Given the description of an element on the screen output the (x, y) to click on. 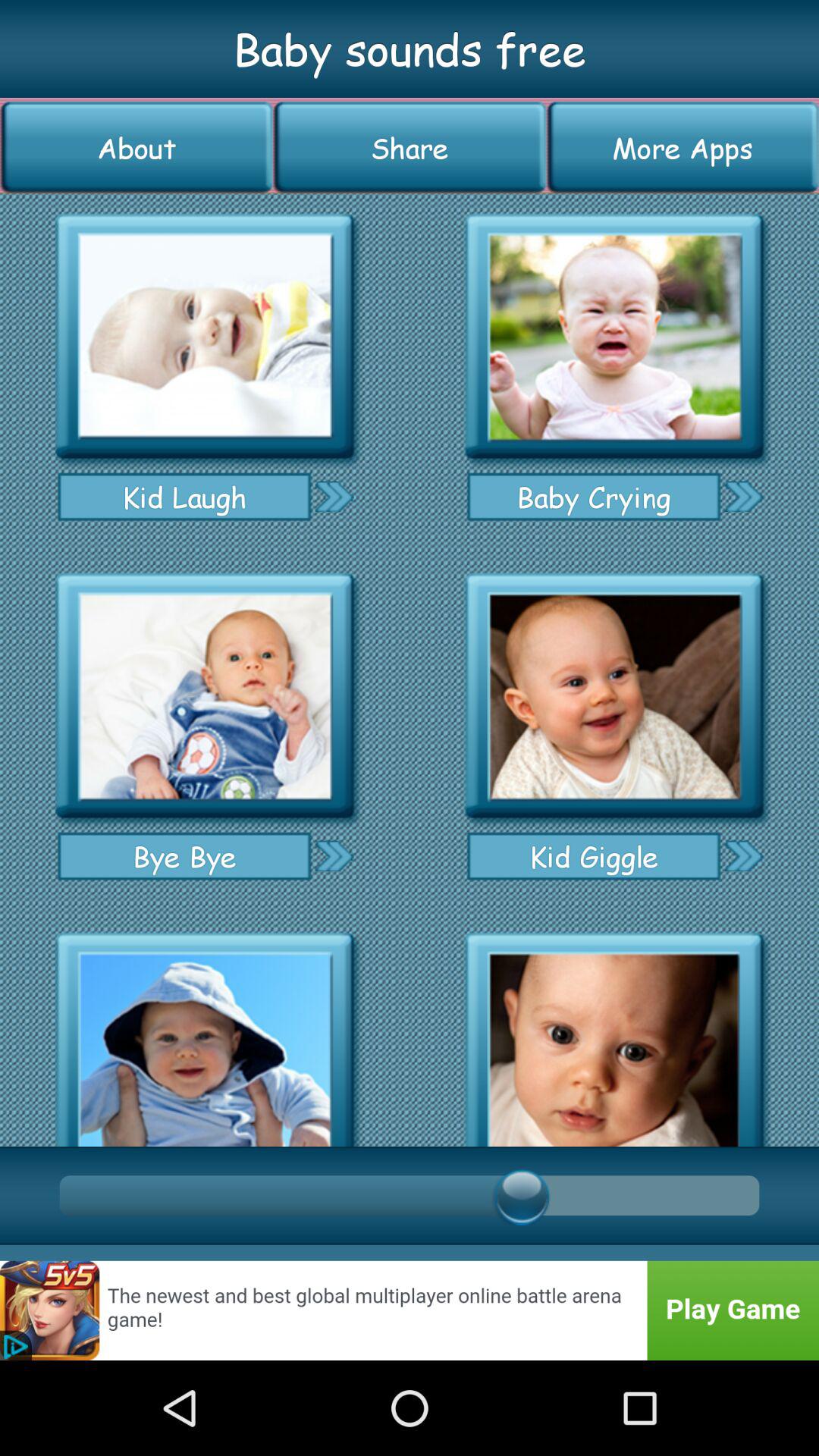
download game advertisement (409, 1310)
